Given the description of an element on the screen output the (x, y) to click on. 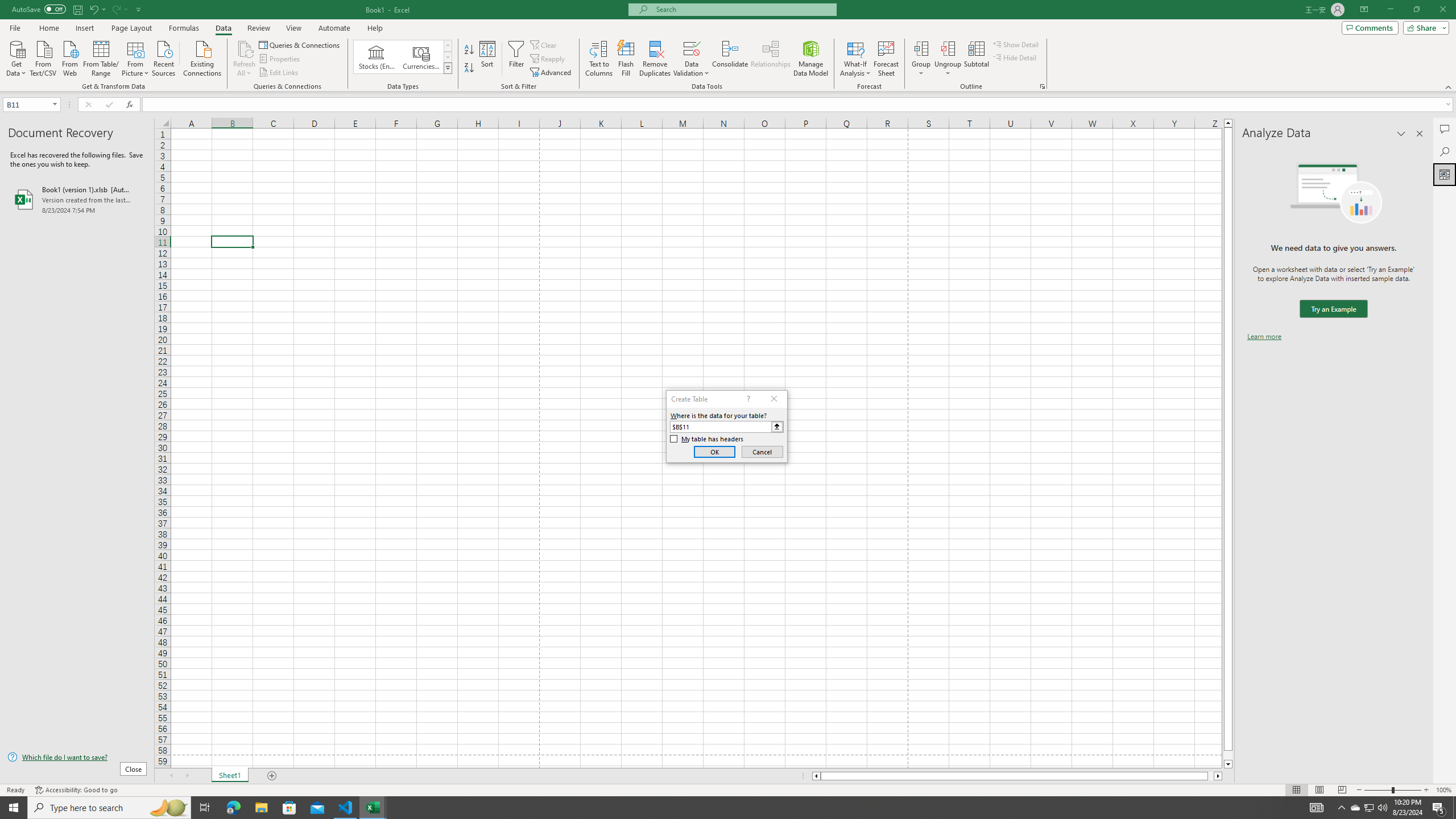
Existing Connections (202, 57)
Undo (92, 9)
Sort Z to A (469, 67)
From Picture (135, 57)
Name Box (27, 104)
Class: NetUIScrollBar (1016, 775)
Edit Links (279, 72)
Undo (96, 9)
Analyze Data (1444, 173)
Close pane (1419, 133)
Share (1423, 27)
Row up (448, 45)
Page Break Preview (1342, 790)
Minimize (1390, 9)
Comments (1444, 128)
